Given the description of an element on the screen output the (x, y) to click on. 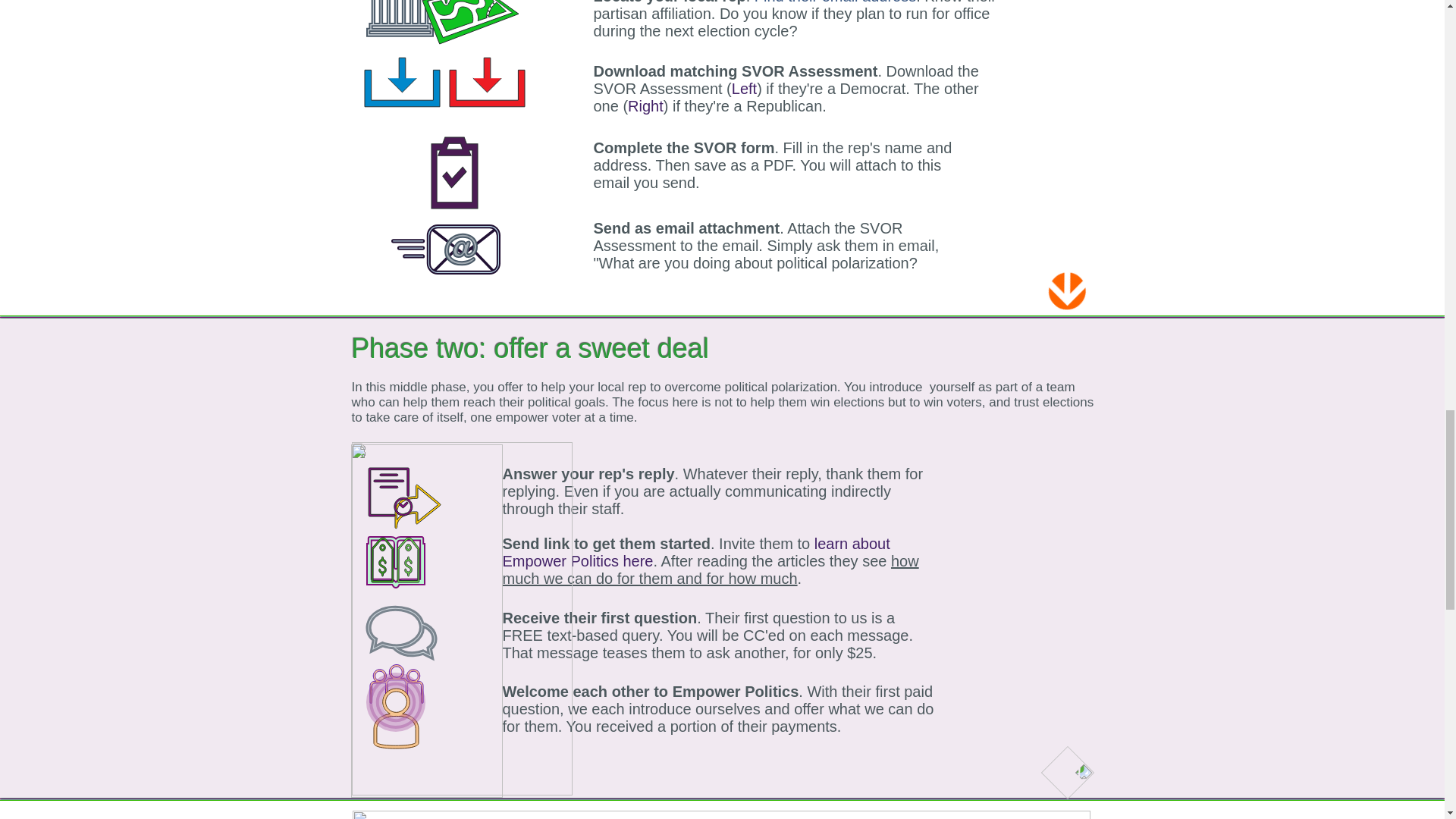
Right (645, 105)
Find their email address (834, 2)
learn about Empower Politics here (695, 552)
Left (744, 88)
